Given the description of an element on the screen output the (x, y) to click on. 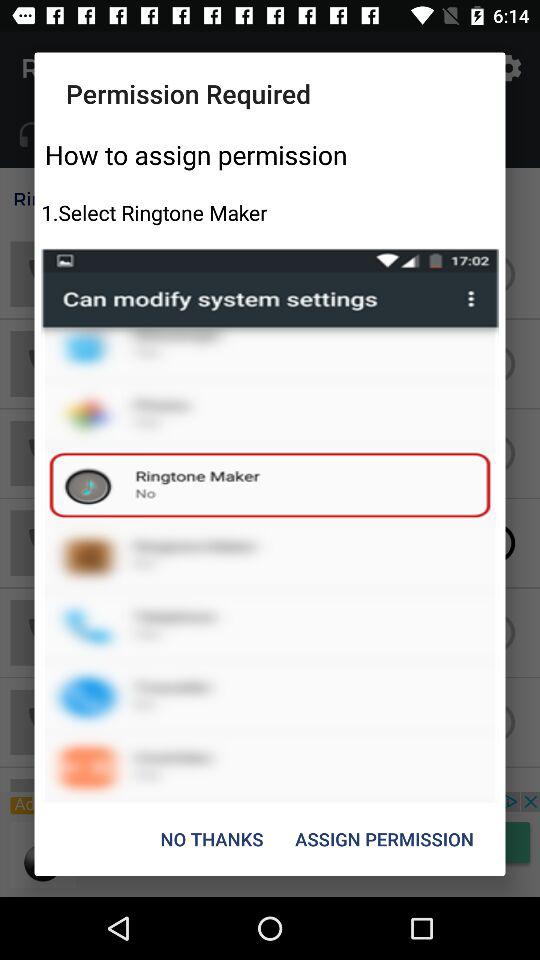
launch item at the bottom (211, 838)
